Given the description of an element on the screen output the (x, y) to click on. 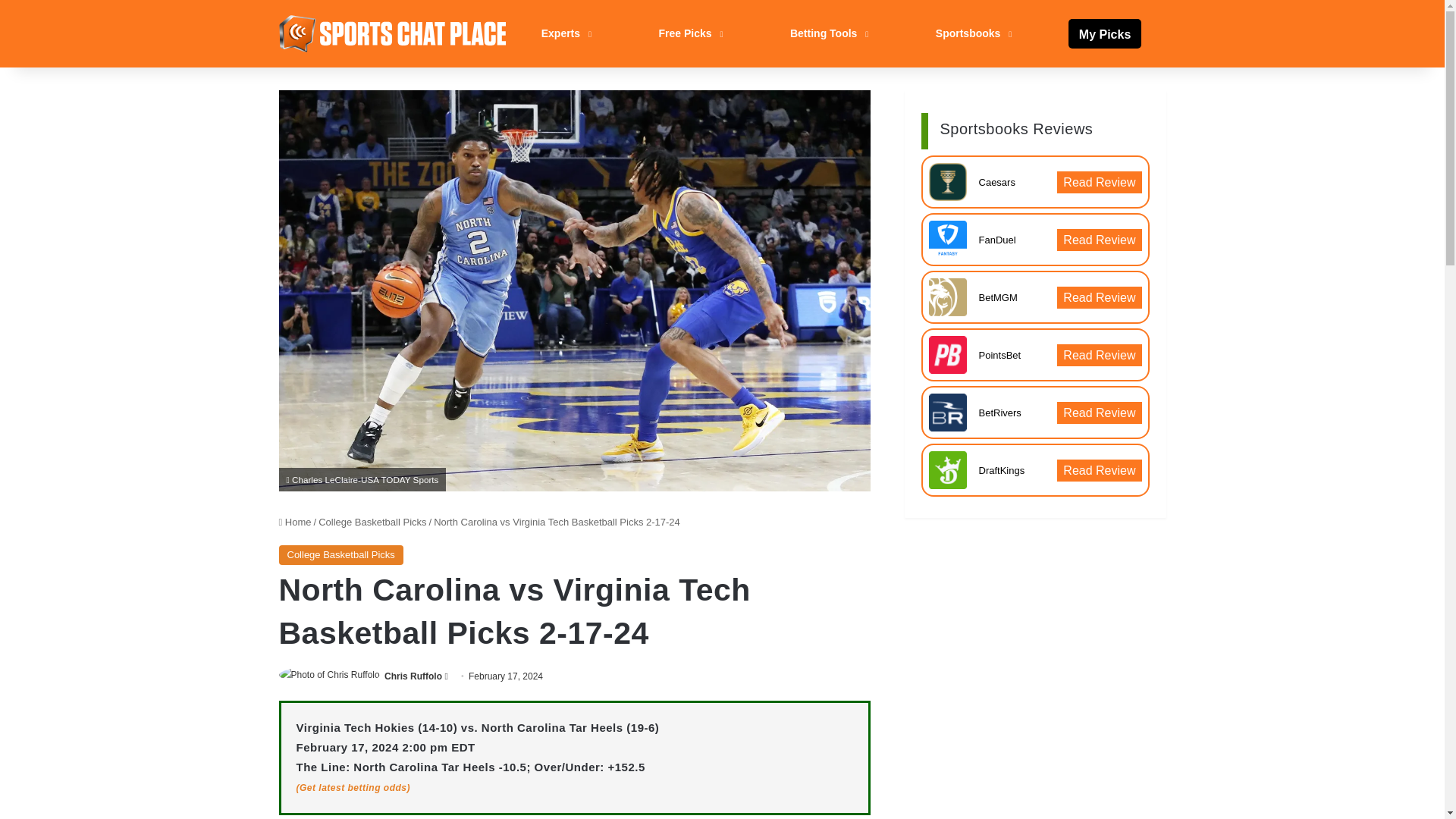
Betting Tools (827, 33)
Sports Chat Place Picks, Betting News (392, 33)
Experts (564, 33)
Free Picks (688, 33)
Chris Ruffolo (413, 675)
